Given the description of an element on the screen output the (x, y) to click on. 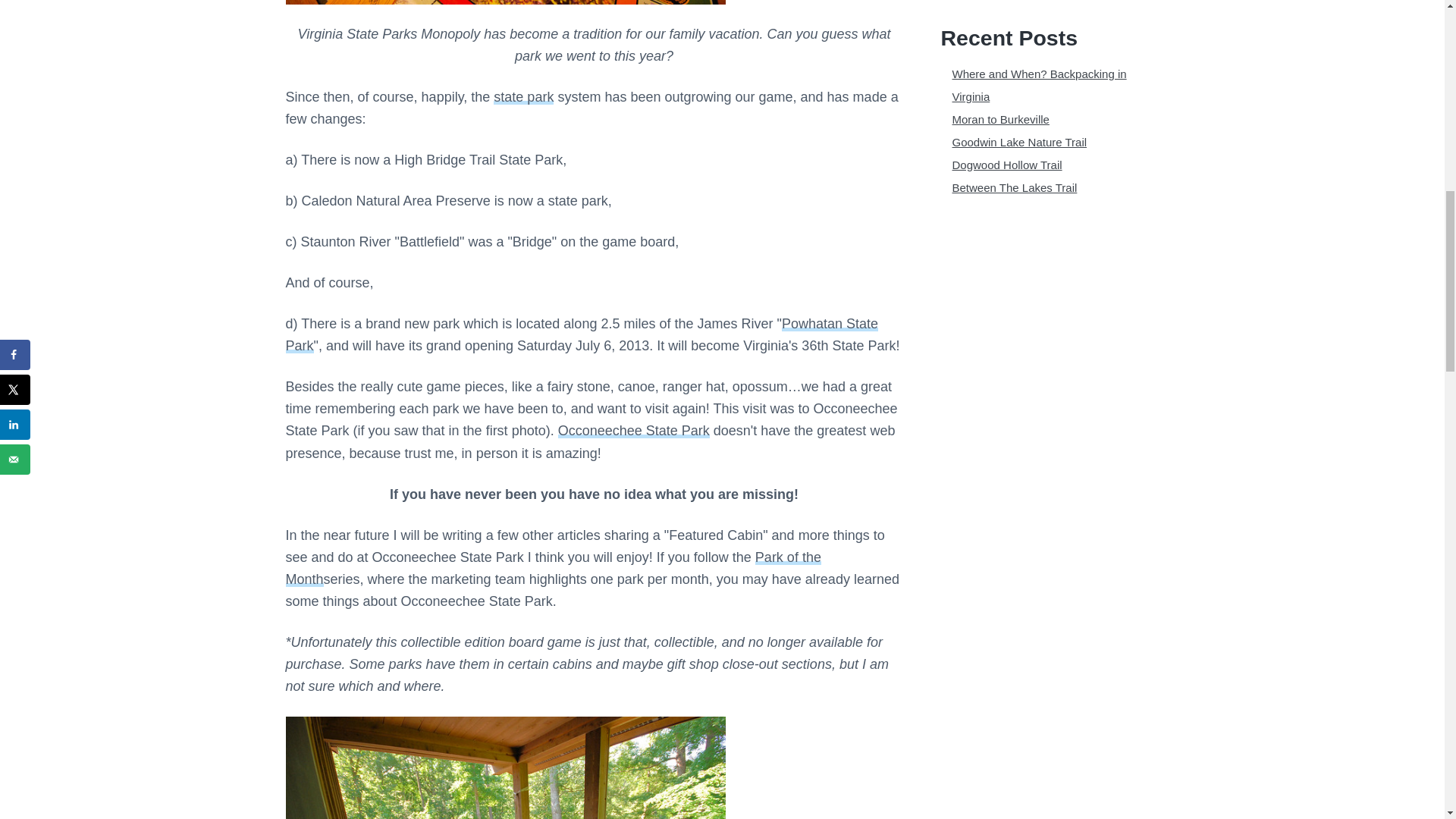
Occoneechee State Park (633, 430)
Powhatan State Park (581, 334)
state park (523, 96)
Park of the Month (553, 568)
